Given the description of an element on the screen output the (x, y) to click on. 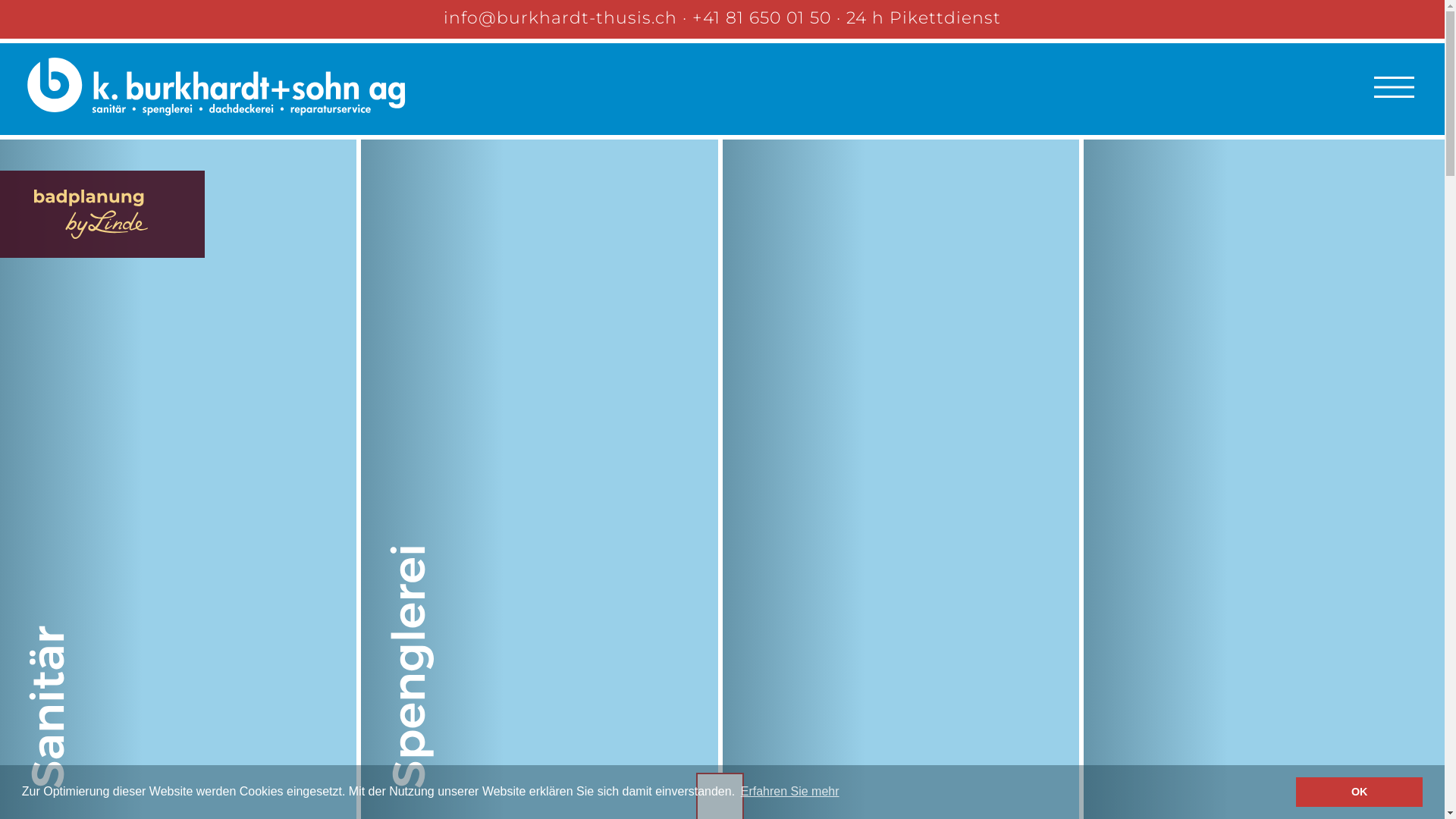
Erfahren Sie mehr Element type: text (789, 791)
OK Element type: text (1358, 791)
info@burkhardt-thusis.ch Element type: text (560, 17)
